Given the description of an element on the screen output the (x, y) to click on. 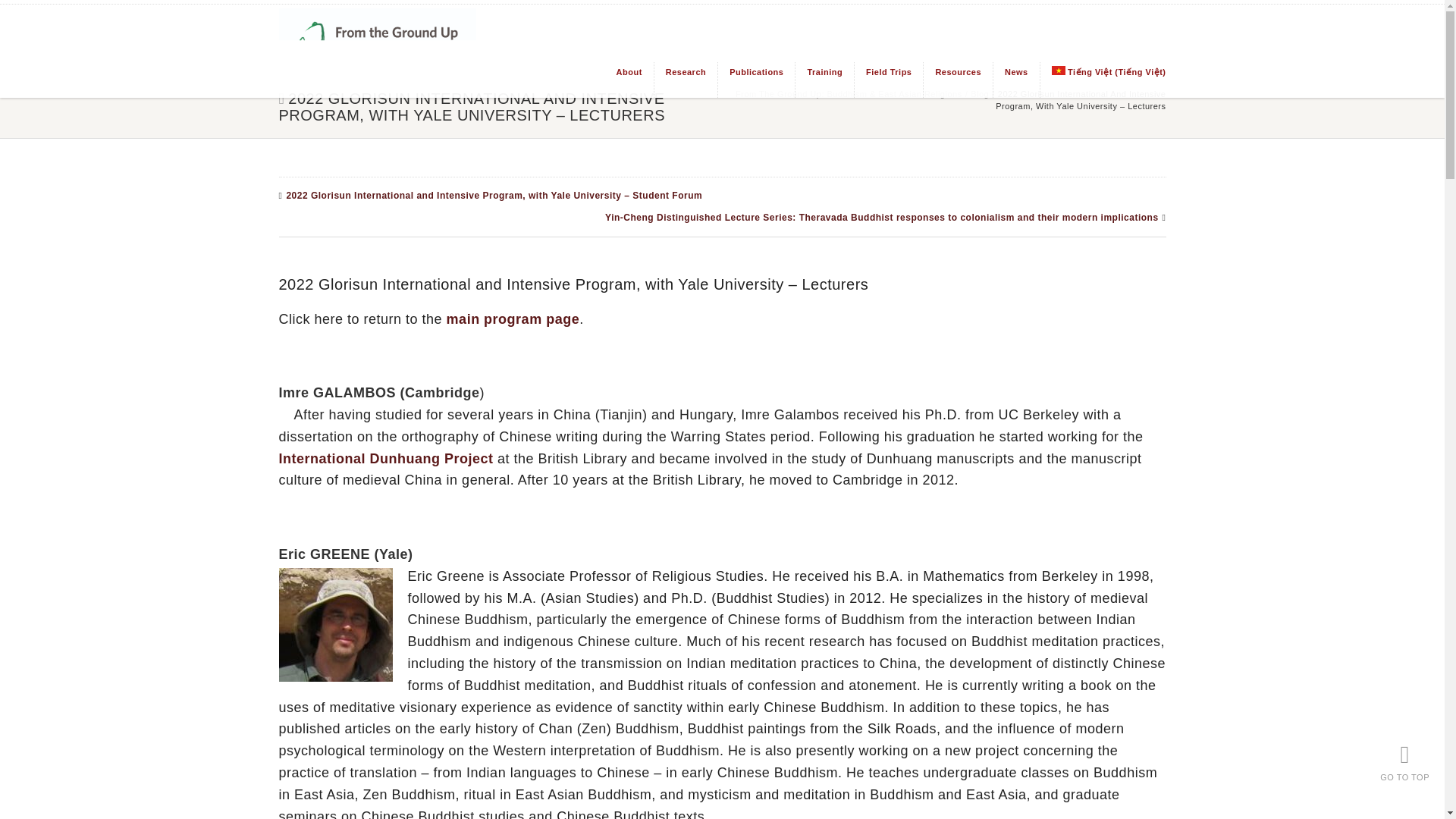
Research (679, 79)
Publications (750, 79)
About (623, 79)
